Given the description of an element on the screen output the (x, y) to click on. 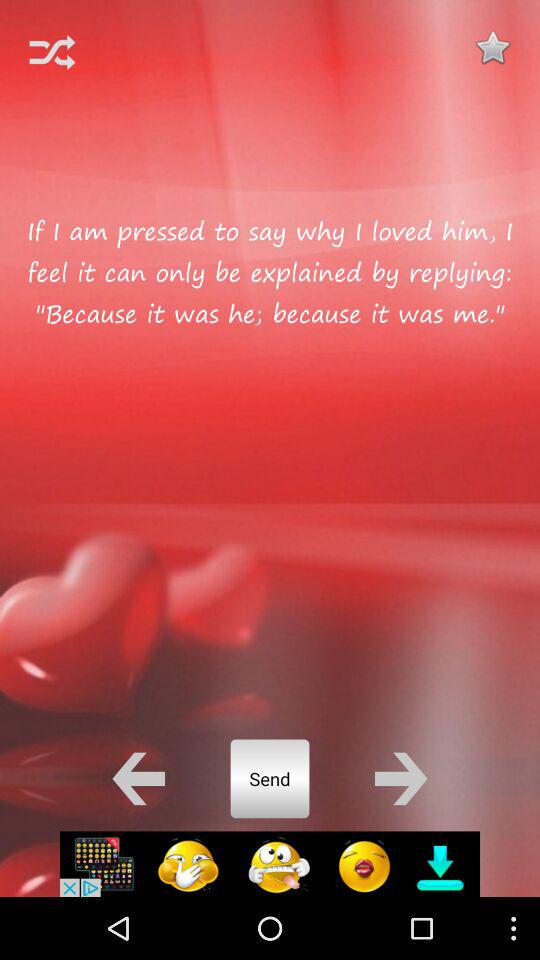
favorite button (492, 47)
